Given the description of an element on the screen output the (x, y) to click on. 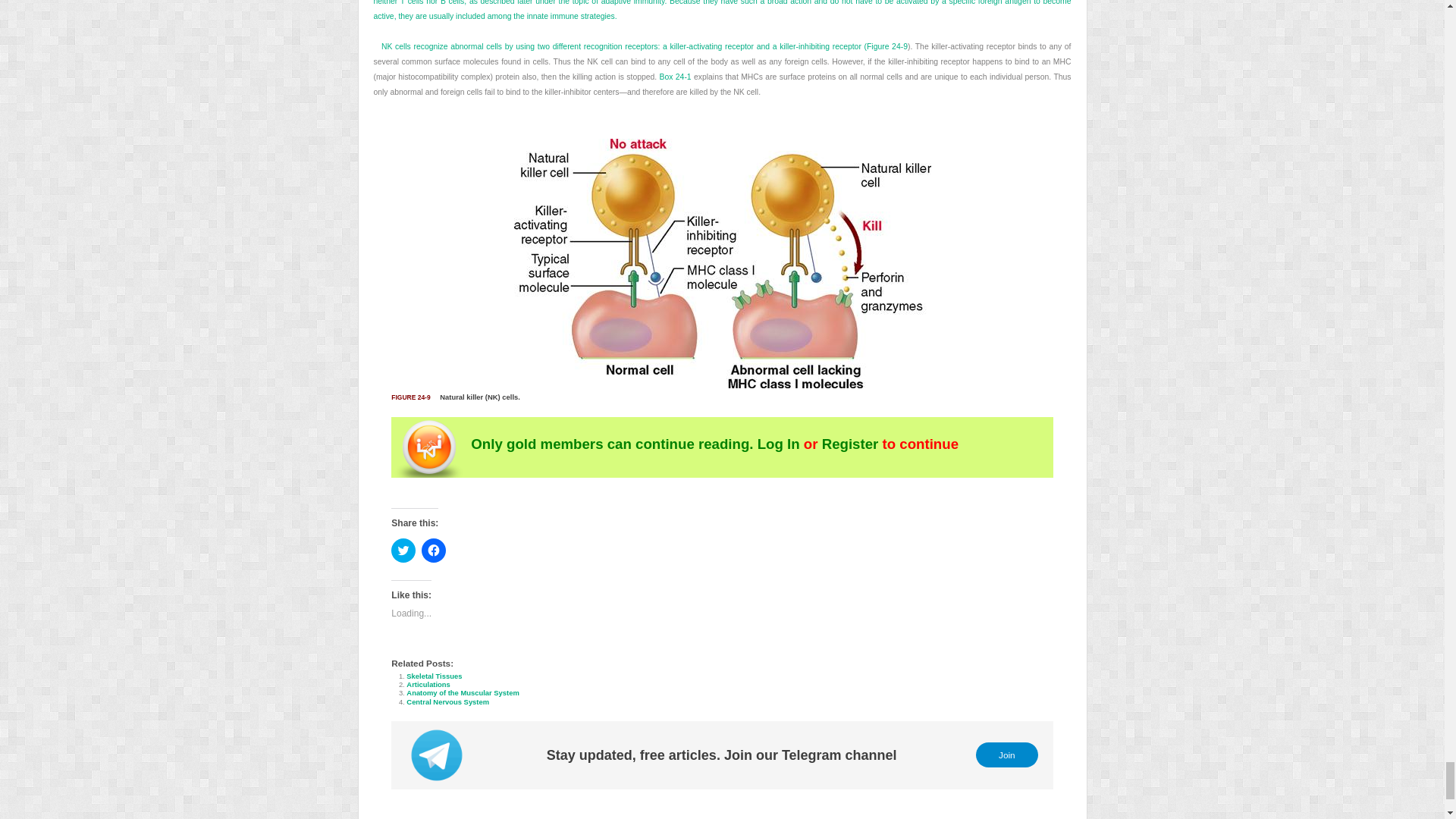
Click to share on Facebook (433, 550)
754 (721, 69)
Anatomy of the Muscular System (462, 692)
Articulations (427, 684)
Click to share on Twitter (402, 550)
Skeletal Tissues (433, 675)
Central Nervous System (447, 701)
